Given the description of an element on the screen output the (x, y) to click on. 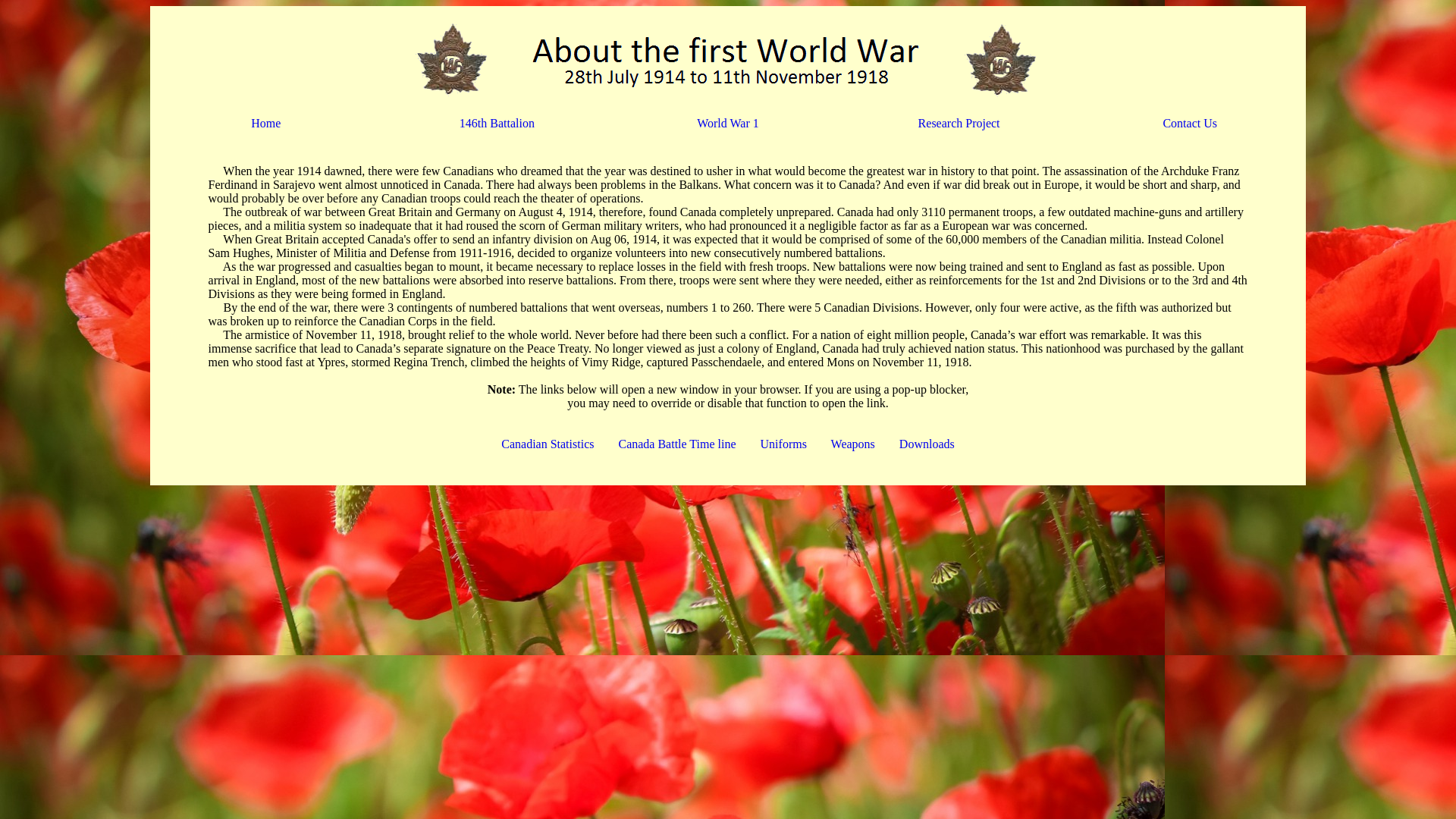
Uniforms Element type: text (783, 443)
Weapons Element type: text (853, 443)
Canada Battle Time line Element type: text (676, 443)
World War 1 Element type: text (727, 122)
Downloads Element type: text (926, 443)
Contact Us Element type: text (1189, 122)
146th Battalion Element type: text (496, 122)
Canadian Statistics Element type: text (547, 443)
Research Project Element type: text (959, 122)
Home Element type: text (265, 122)
